Given the description of an element on the screen output the (x, y) to click on. 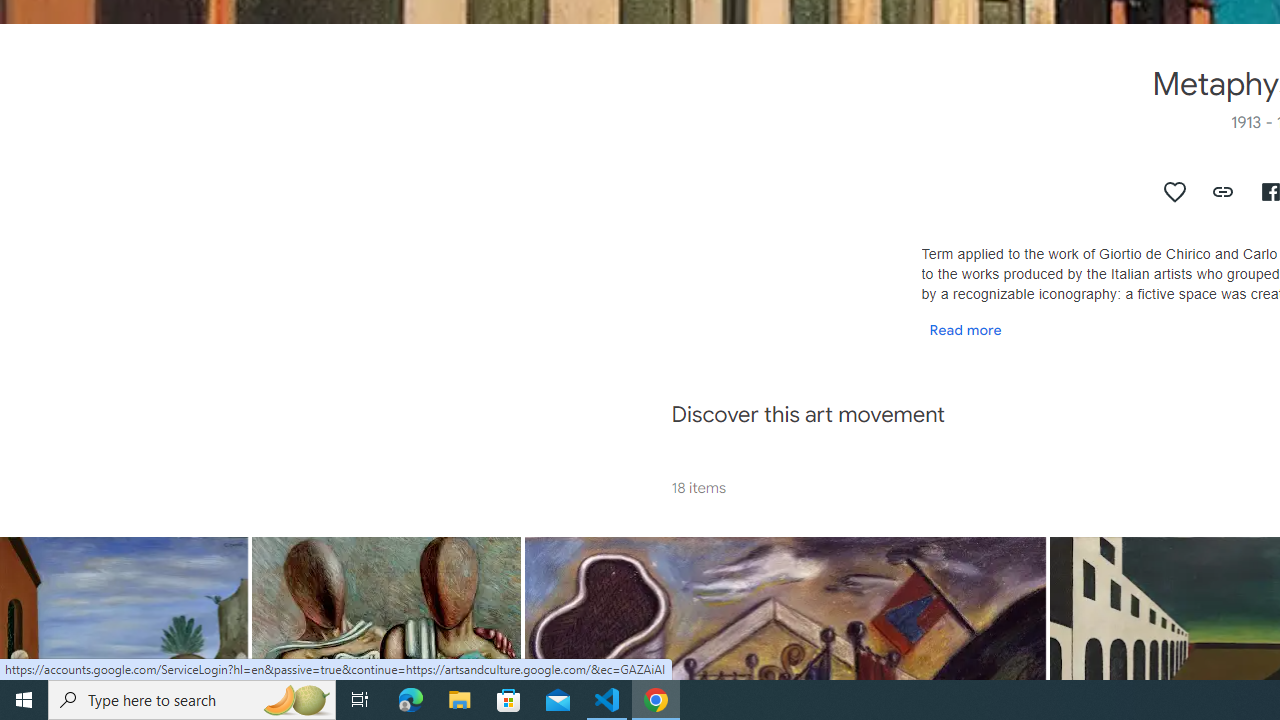
Copy Link (1223, 191)
Read more (965, 329)
Authenticate to favorite this asset. (1175, 191)
